Given the description of an element on the screen output the (x, y) to click on. 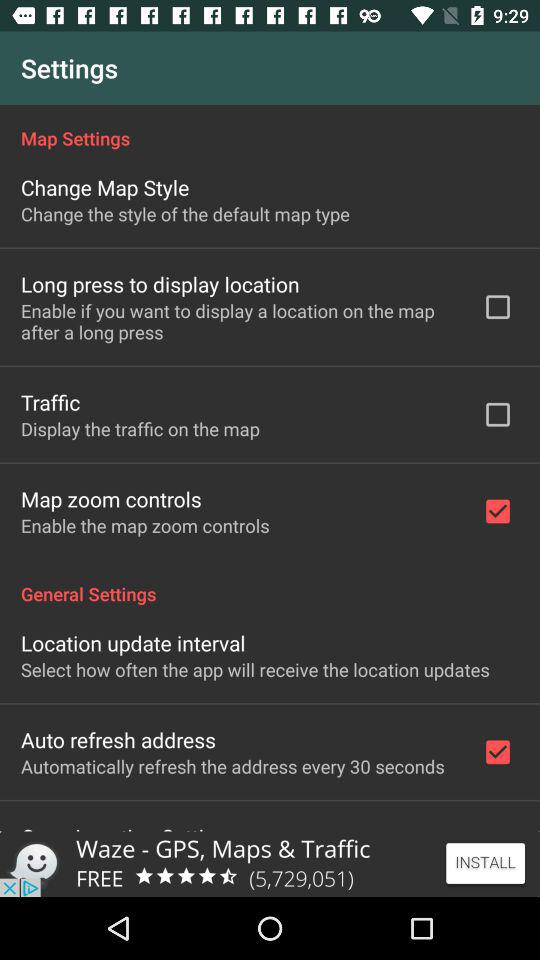
open advertisement (270, 864)
